Given the description of an element on the screen output the (x, y) to click on. 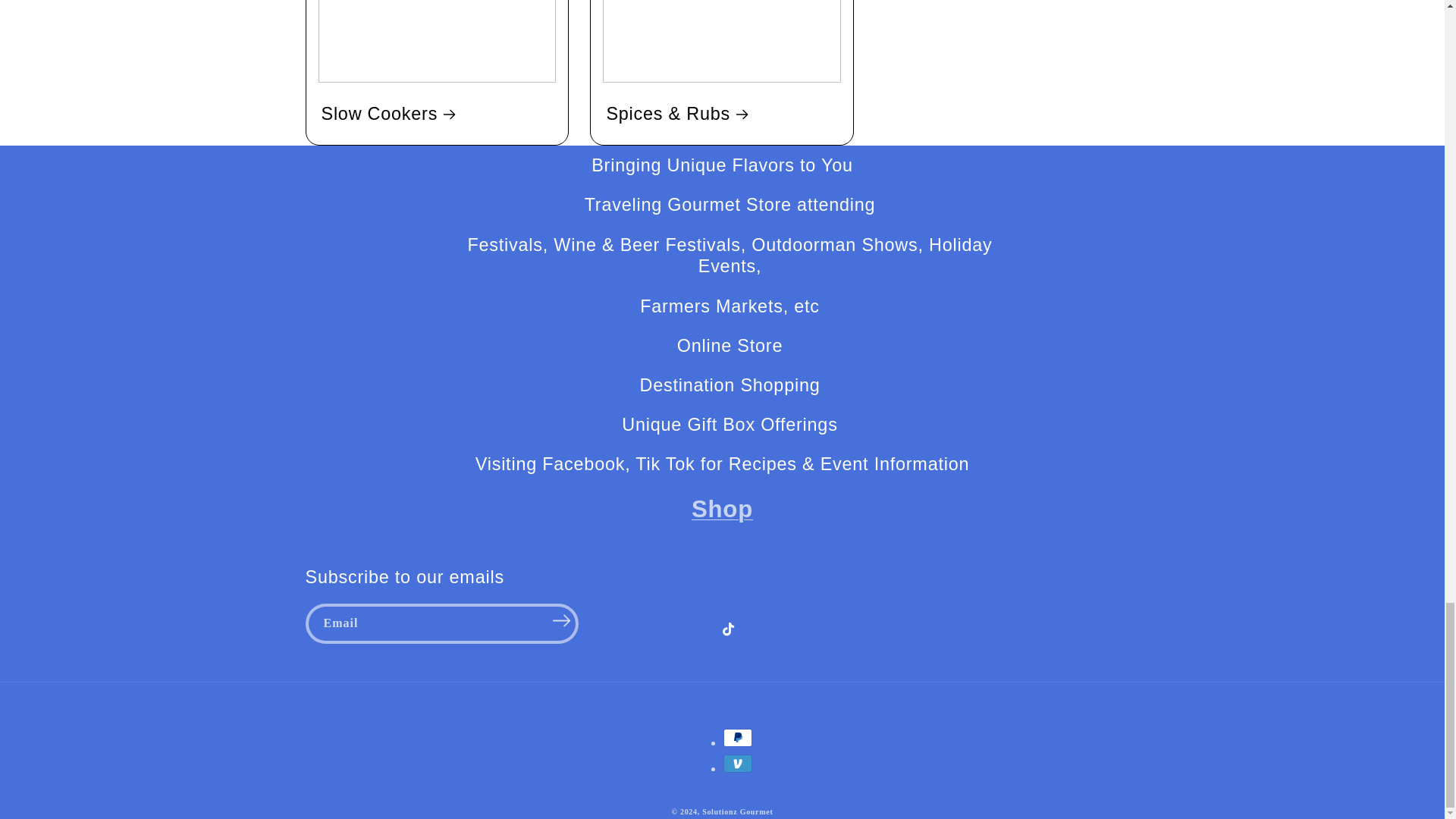
All collections (721, 509)
